Given the description of an element on the screen output the (x, y) to click on. 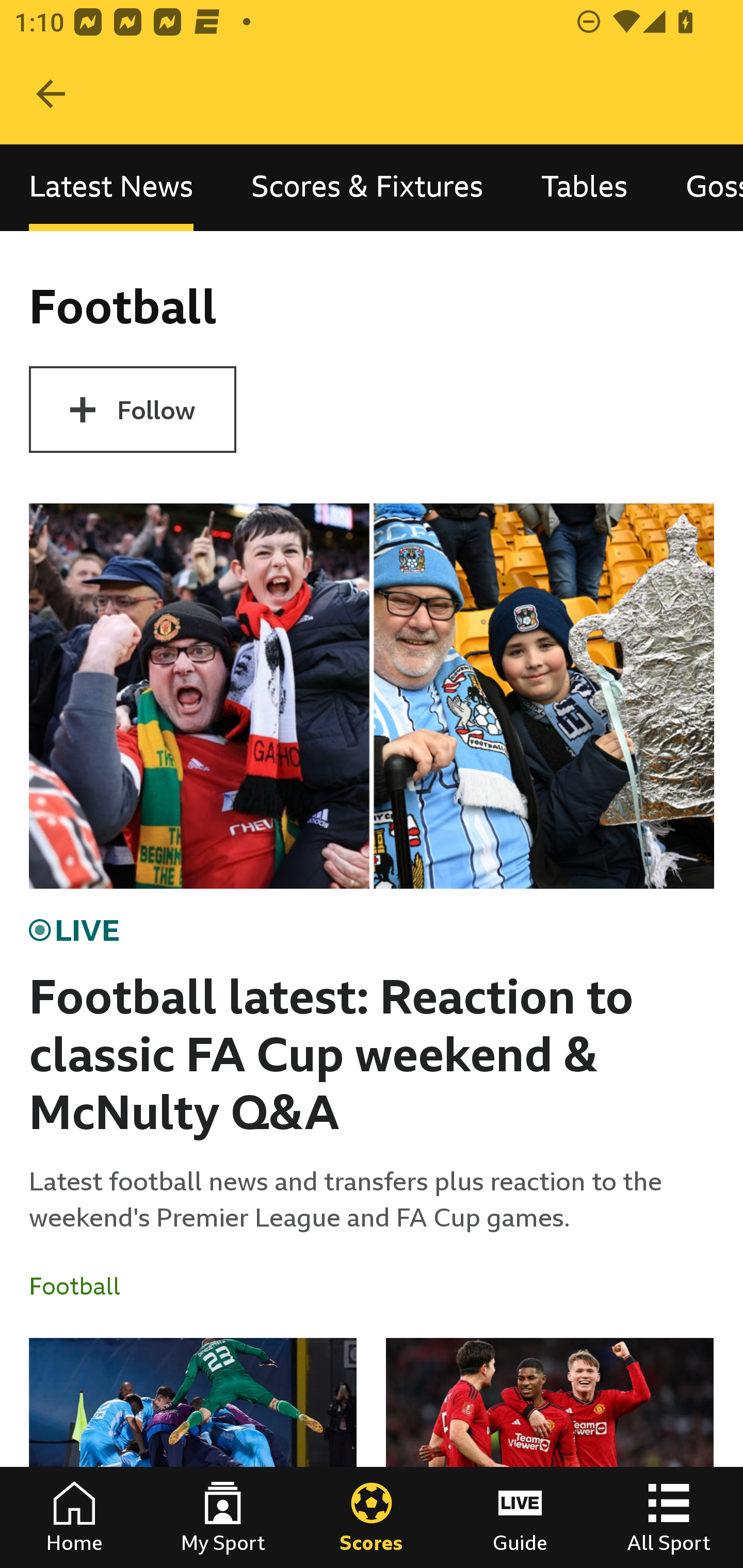
Navigate up (50, 93)
Latest News, selected Latest News (111, 187)
Scores & Fixtures (367, 187)
Tables (584, 187)
Gossip (699, 187)
Follow Football Follow (132, 409)
Liverpool win could be turning point - Ten Hag (549, 1452)
Home (74, 1517)
My Sport (222, 1517)
Guide (519, 1517)
All Sport (668, 1517)
